Given the description of an element on the screen output the (x, y) to click on. 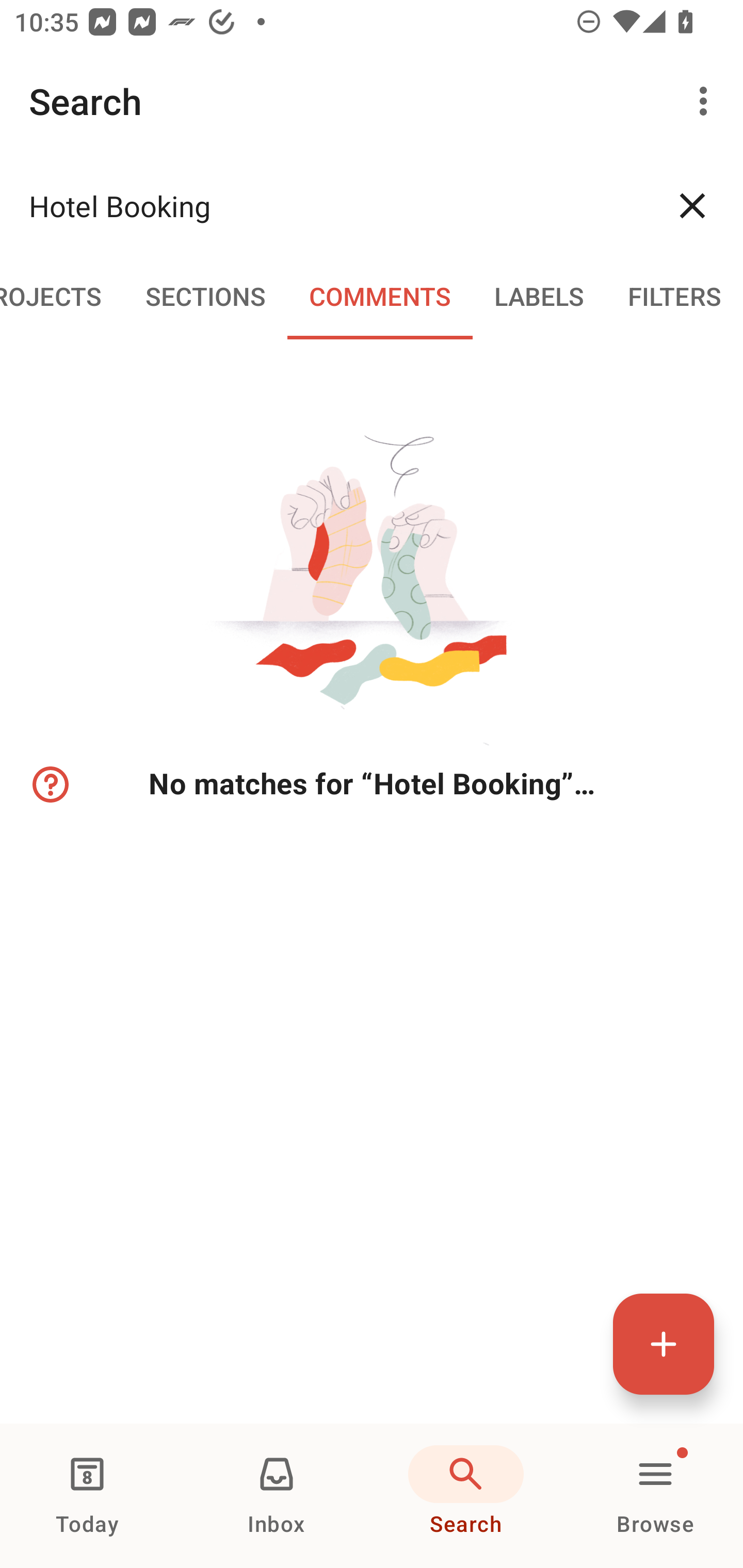
Search More options (371, 100)
More options (706, 101)
Hotel Booking (335, 205)
Clear (692, 205)
Sections SECTIONS (205, 295)
Labels LABELS (539, 295)
Filters FILTERS (674, 295)
Learn how to refine your search (48, 784)
Quick add (663, 1343)
Today (87, 1495)
Inbox (276, 1495)
Browse (655, 1495)
